Given the description of an element on the screen output the (x, y) to click on. 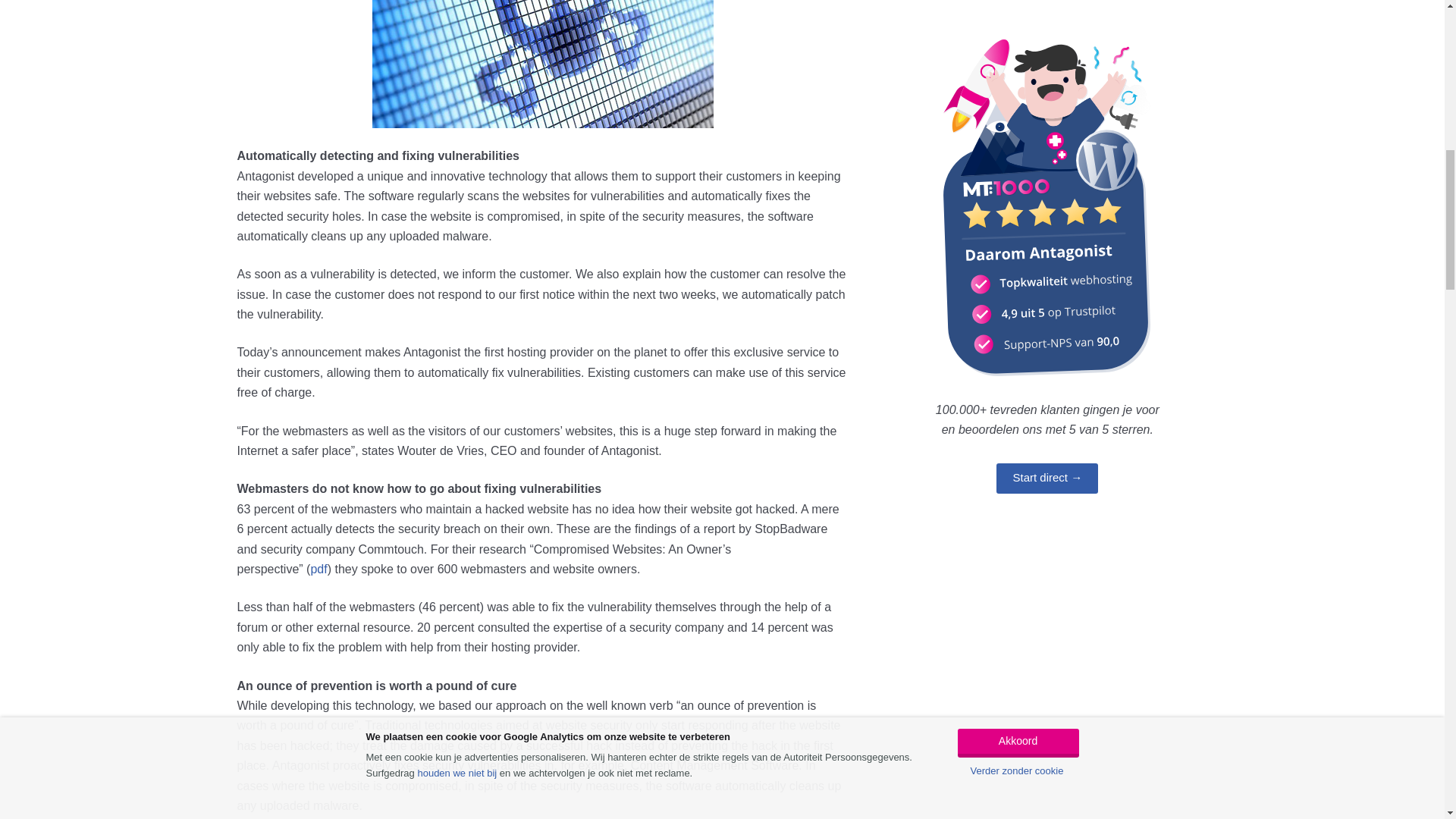
malware (542, 63)
